Given the description of an element on the screen output the (x, y) to click on. 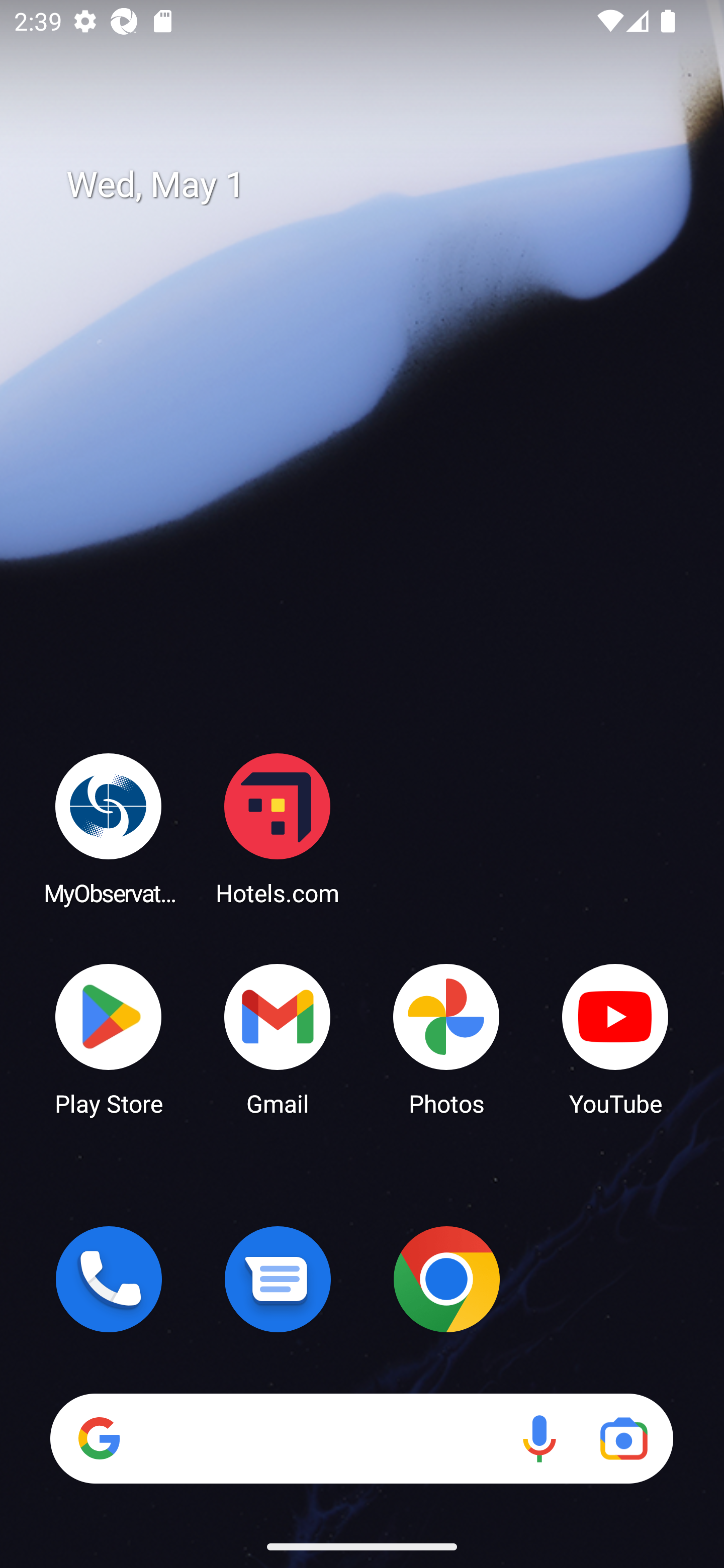
Wed, May 1 (375, 184)
MyObservatory (108, 828)
Hotels.com (277, 828)
Play Store (108, 1038)
Gmail (277, 1038)
Photos (445, 1038)
YouTube (615, 1038)
Phone (108, 1279)
Messages (277, 1279)
Chrome (446, 1279)
Search Voice search Google Lens (361, 1438)
Voice search (539, 1438)
Google Lens (623, 1438)
